Given the description of an element on the screen output the (x, y) to click on. 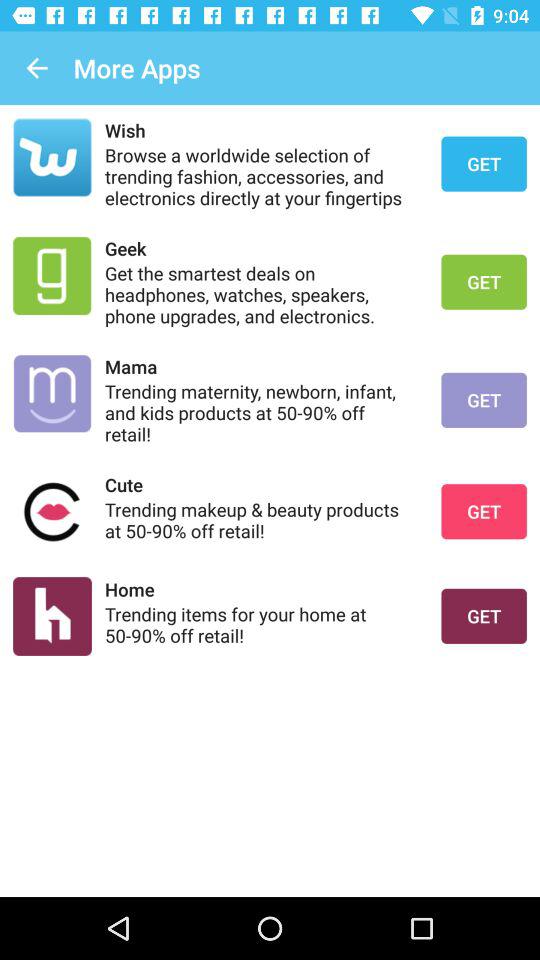
press the item below the cute icon (260, 520)
